Given the description of an element on the screen output the (x, y) to click on. 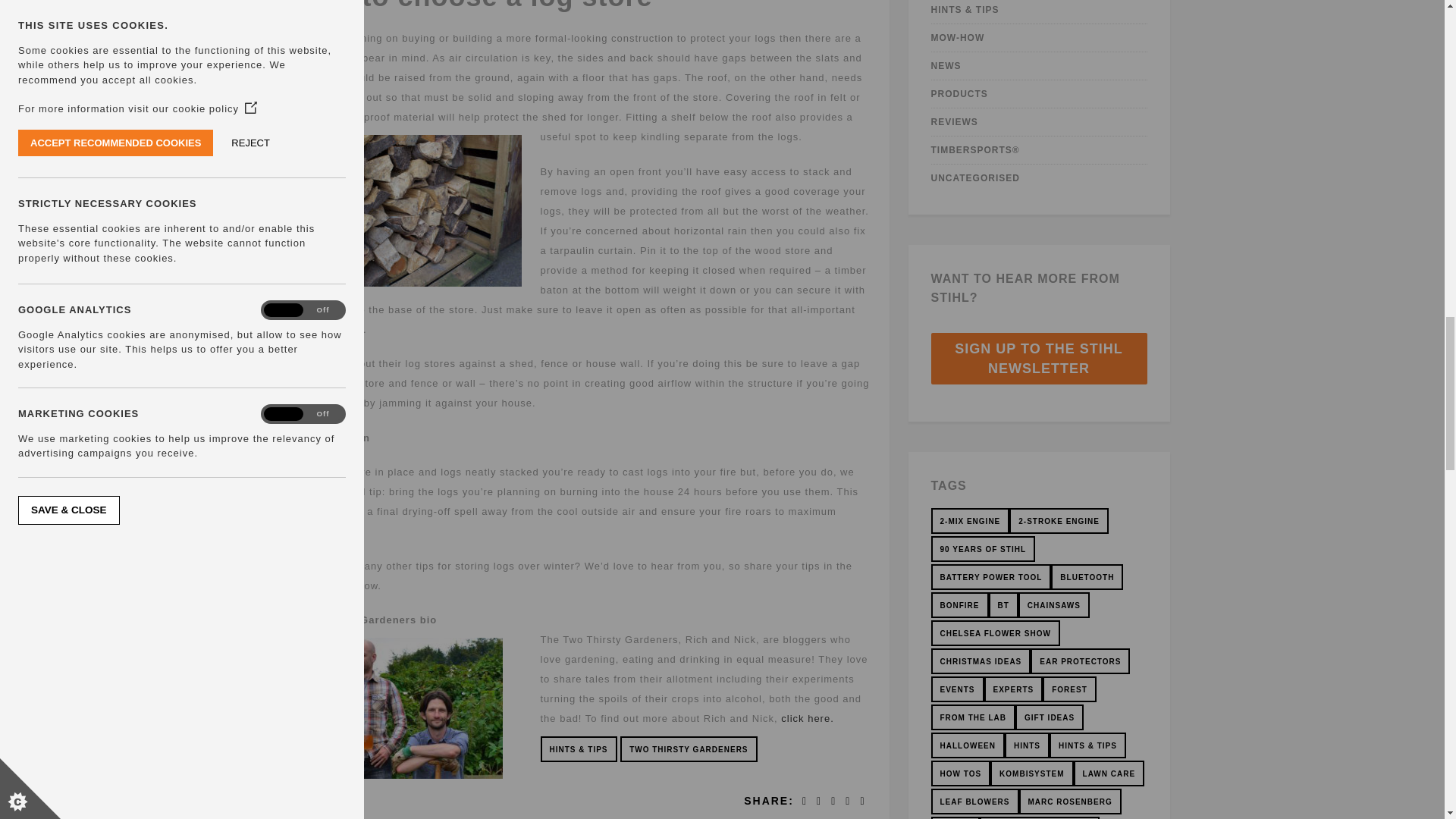
click here. (807, 717)
